Given the description of an element on the screen output the (x, y) to click on. 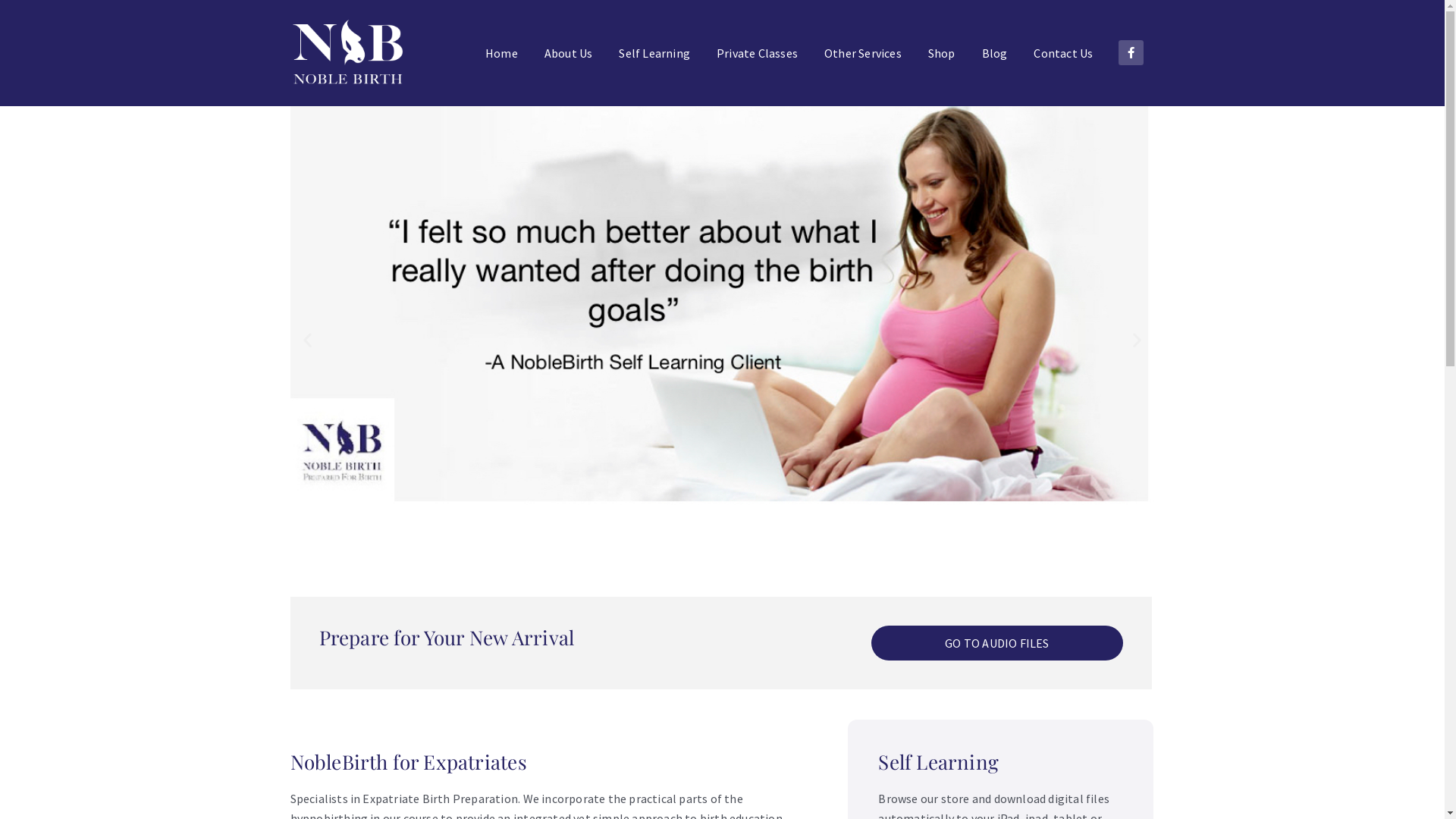
GO TO AUDIO FILES Element type: text (996, 642)
Private Classes Element type: text (756, 52)
Other Services Element type: text (862, 52)
About Us Element type: text (568, 52)
Shop Element type: text (941, 52)
Blog Element type: text (994, 52)
Home Element type: text (501, 52)
Self Learning Element type: text (654, 52)
Contact Us Element type: text (1062, 52)
